Given the description of an element on the screen output the (x, y) to click on. 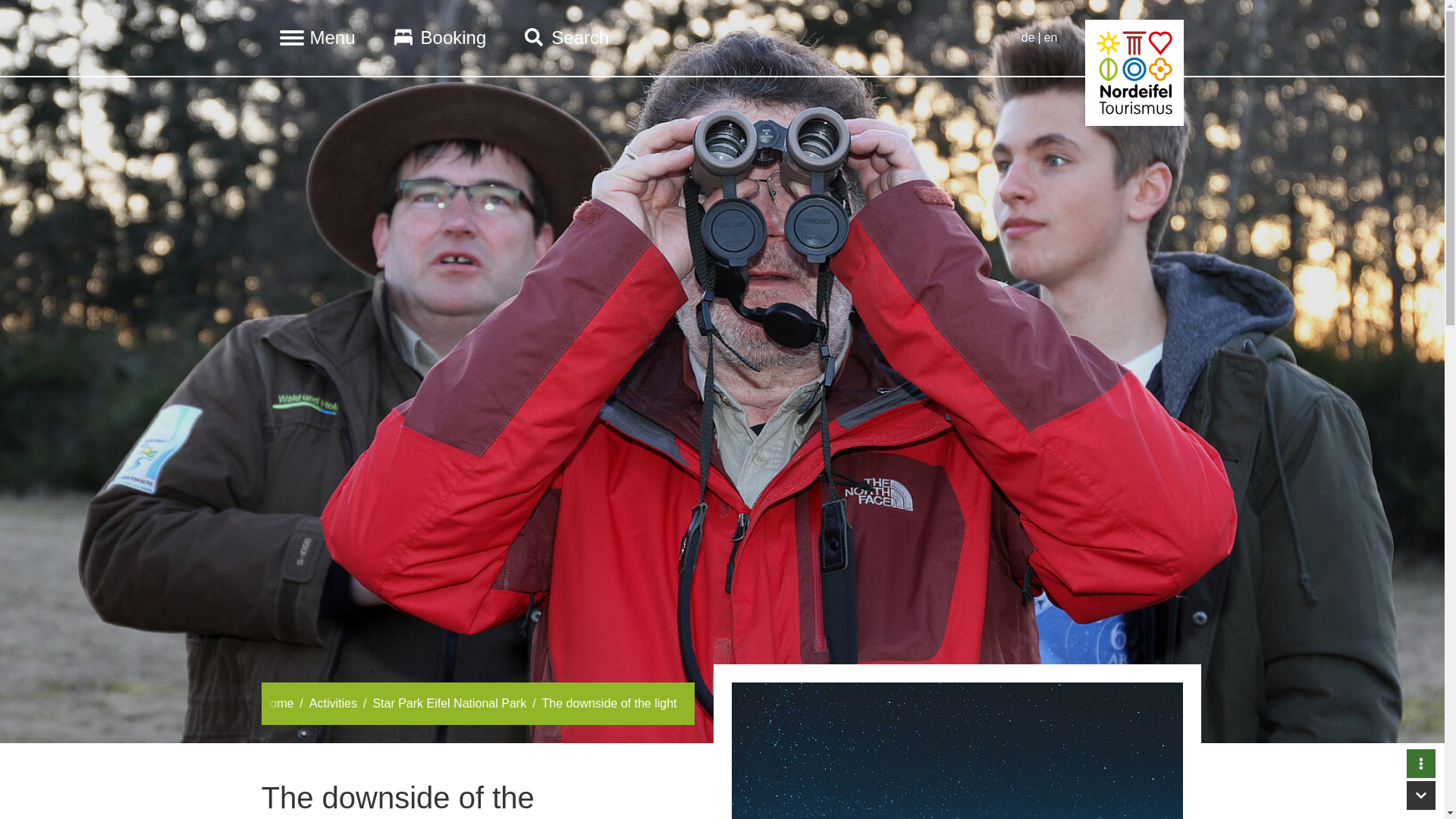
Go to home (1133, 38)
Search (565, 38)
Open service menu (1420, 763)
Scroll down (1420, 795)
Menu (316, 38)
Booking (439, 38)
